Given the description of an element on the screen output the (x, y) to click on. 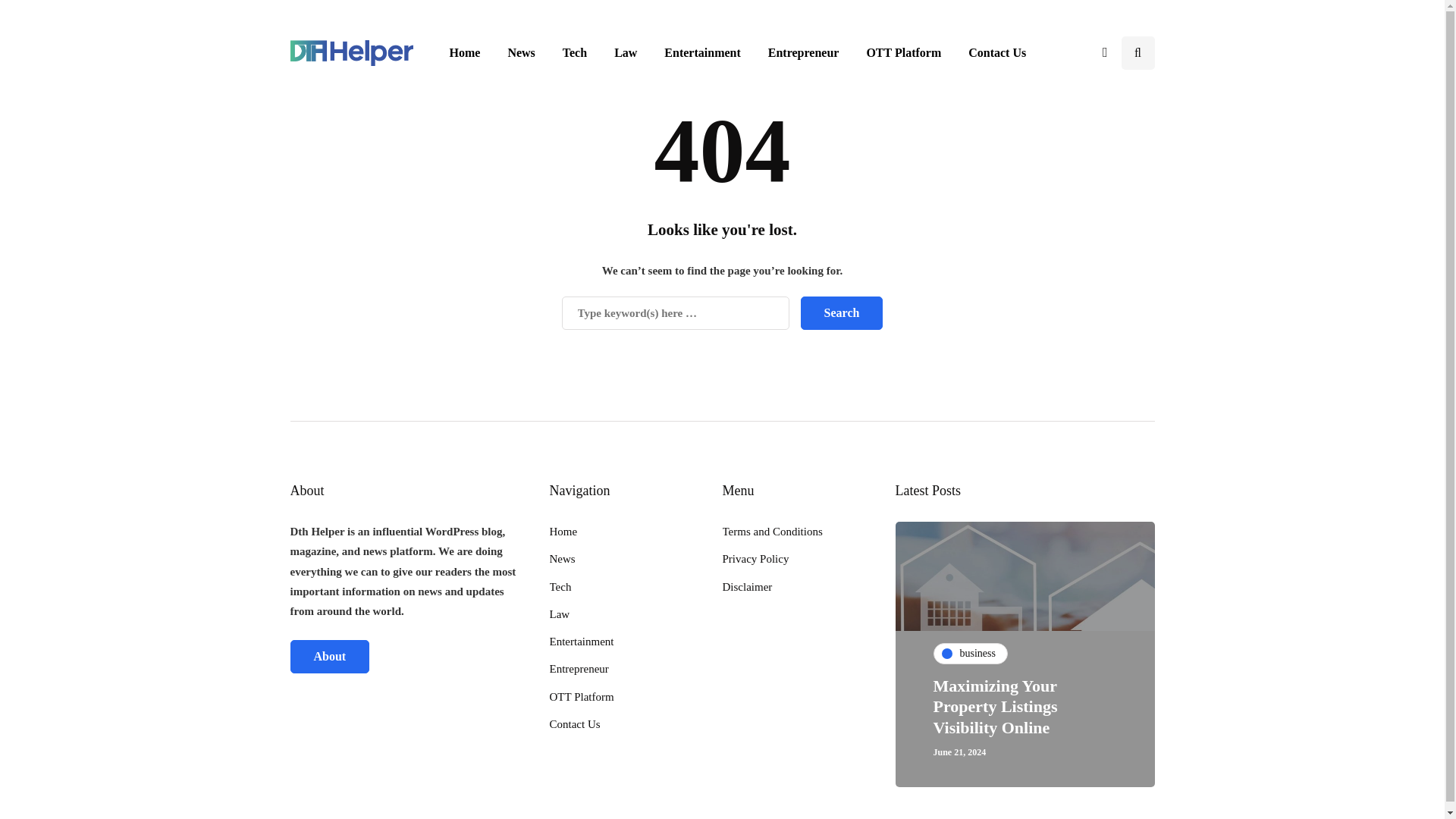
Home (562, 531)
Disclaimer (746, 586)
Privacy Policy (755, 558)
OTT Platform (903, 52)
Entertainment (580, 641)
Home (464, 52)
Contact Us (997, 52)
Entrepreneur (803, 52)
News (520, 52)
News (561, 558)
